Given the description of an element on the screen output the (x, y) to click on. 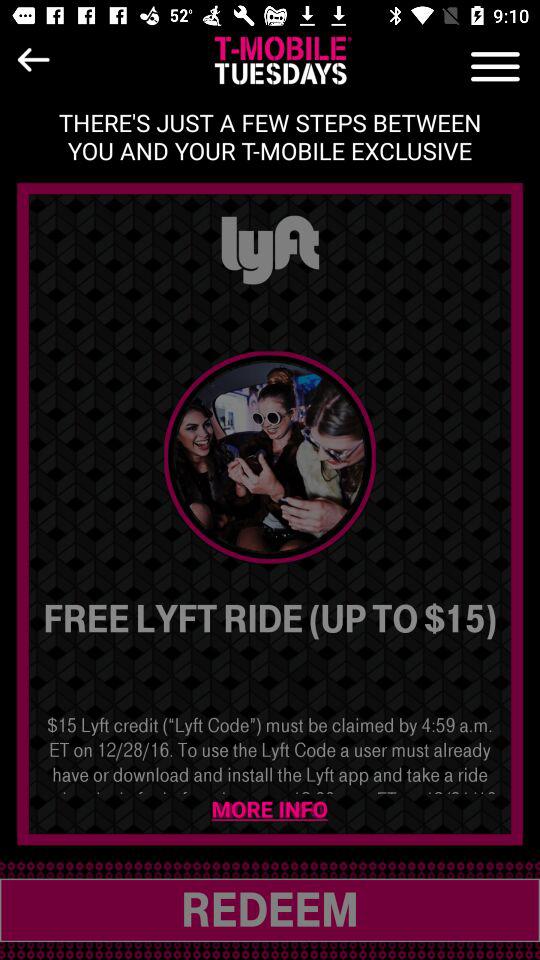
click the image below lyft (269, 457)
select more info above redeem on the page (269, 809)
click on the text above more info (269, 753)
